Given the description of an element on the screen output the (x, y) to click on. 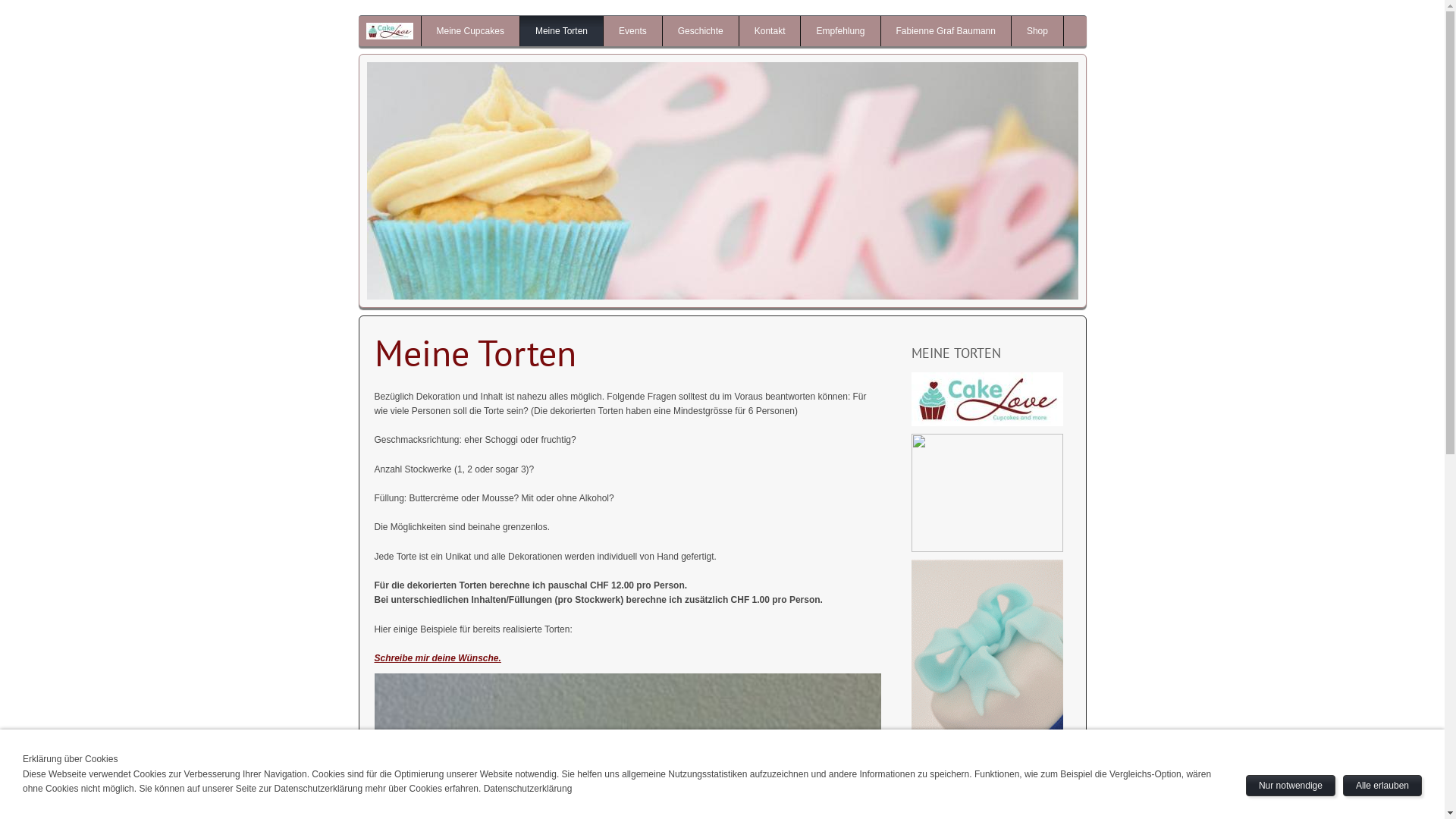
Nur notwendige Element type: text (1290, 785)
Fabienne Graf Baumann Element type: text (945, 30)
Events Element type: text (632, 30)
Meine Torten Element type: text (561, 30)
Kontakt Element type: text (769, 30)
Empfehlung Element type: text (839, 30)
Alle erlauben Element type: text (1382, 785)
Meine Cupcakes Element type: text (470, 30)
Geschichte Element type: text (700, 30)
Shop Element type: text (1037, 30)
